Given the description of an element on the screen output the (x, y) to click on. 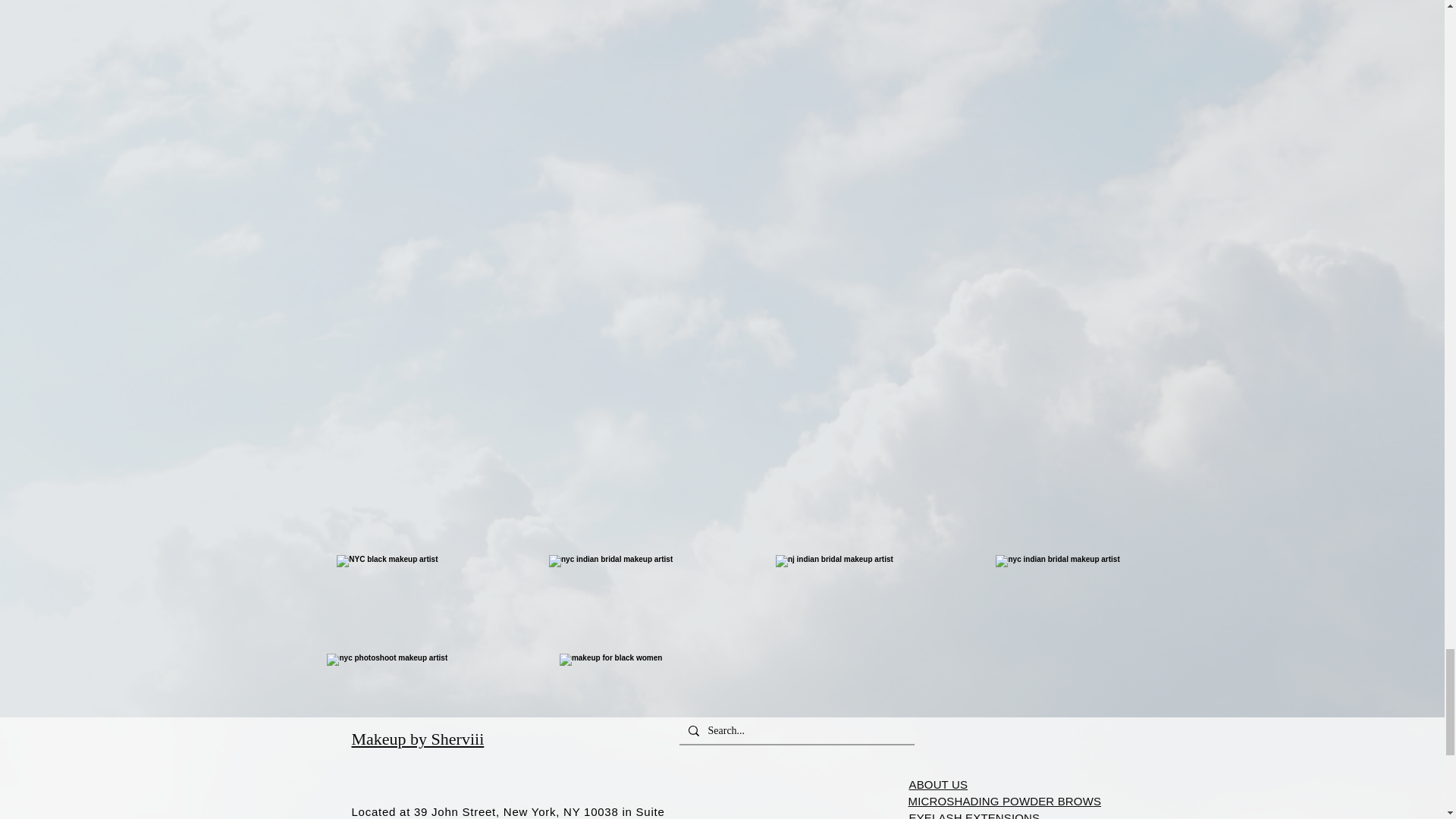
MICROSHADING POWDER BROWS (1005, 801)
Makeup by Sherviii (418, 738)
ABOUT US (938, 784)
EYELASH EXTENSIONS (973, 815)
